Given the description of an element on the screen output the (x, y) to click on. 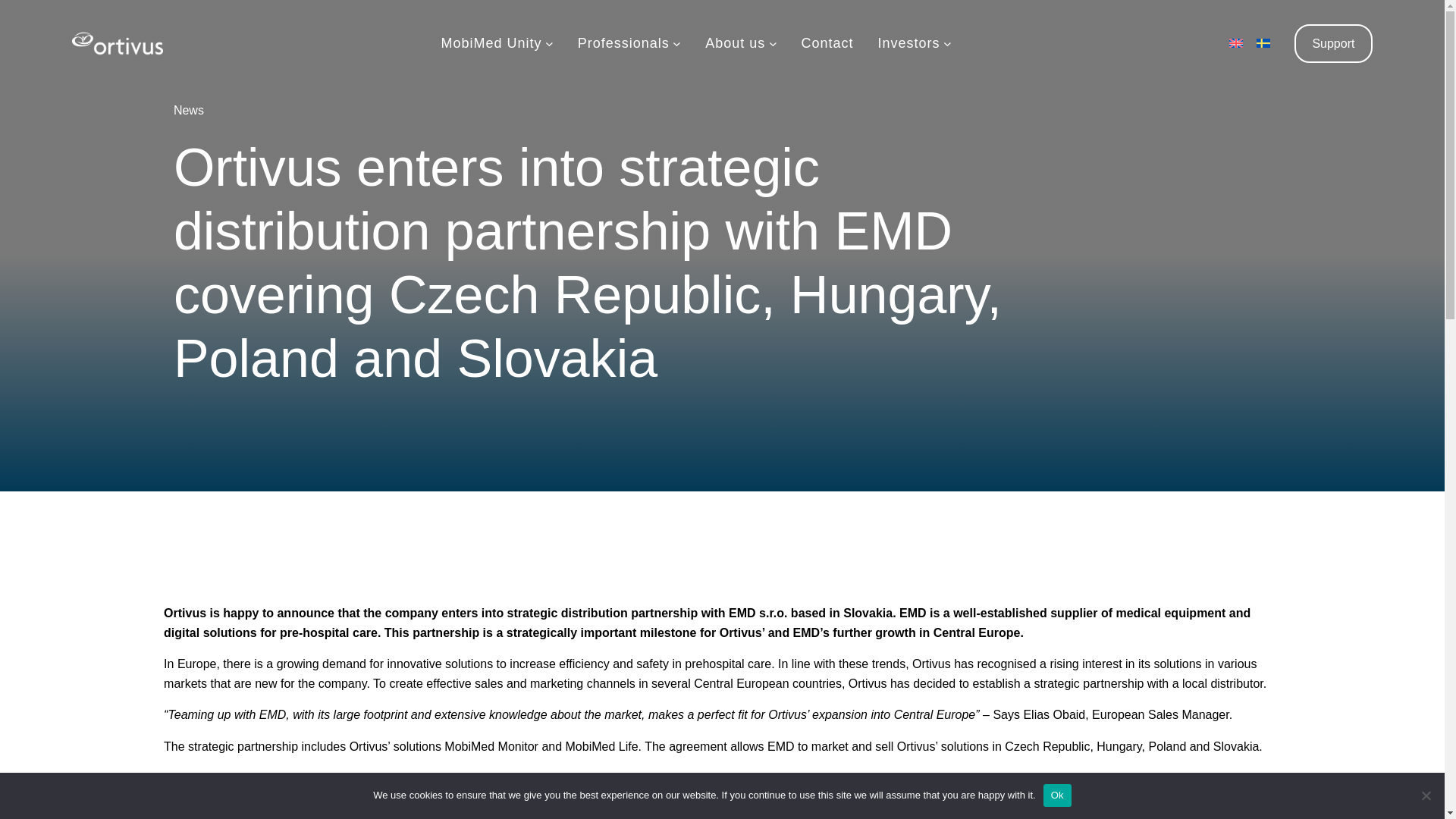
MobiMed Unity (491, 42)
Contact (826, 42)
Support (1333, 43)
Professionals (623, 42)
No (1425, 795)
About us (734, 42)
Investors (908, 42)
